Given the description of an element on the screen output the (x, y) to click on. 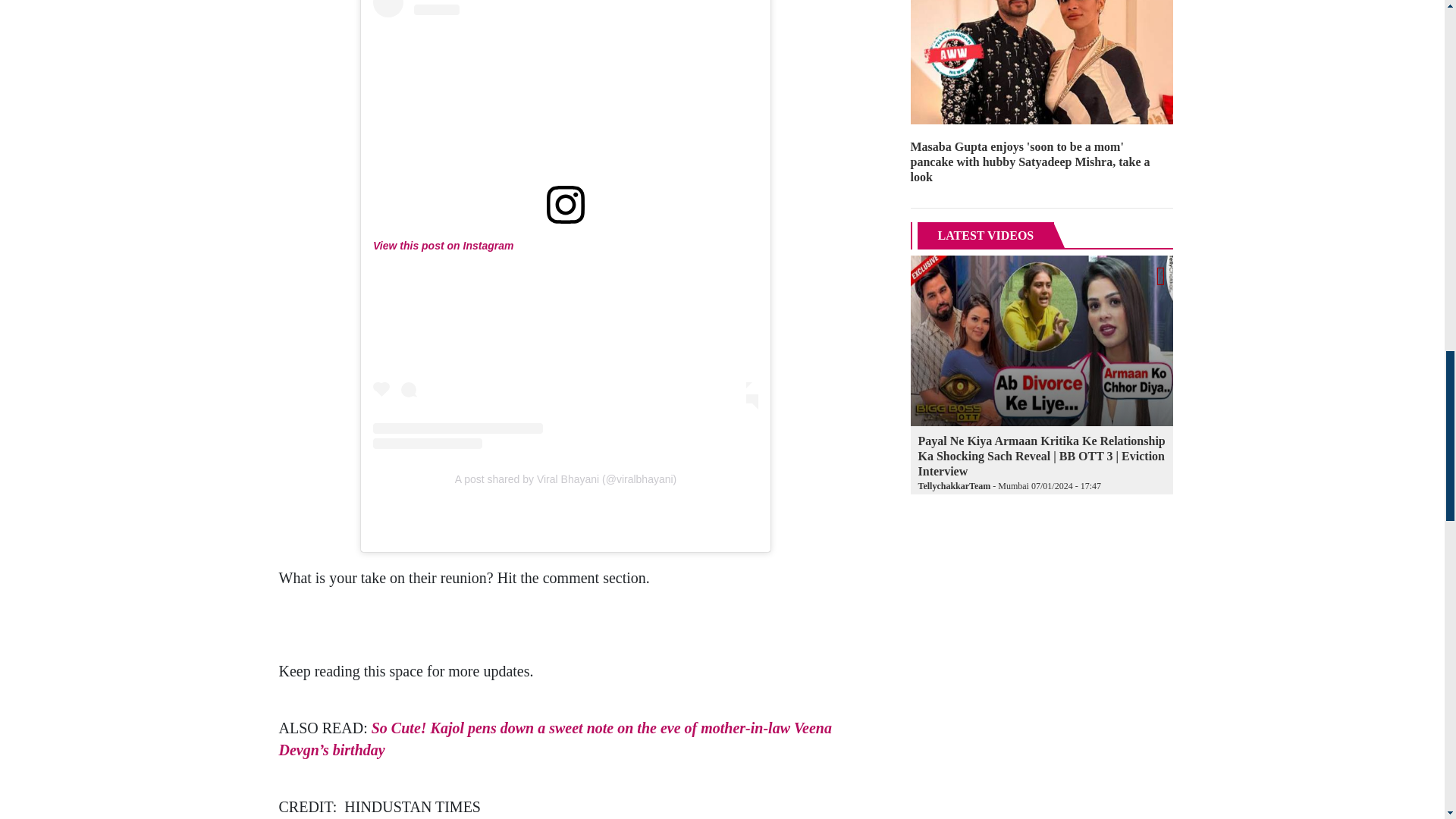
Armaan  (1041, 340)
Masaba  (1041, 62)
